Given the description of an element on the screen output the (x, y) to click on. 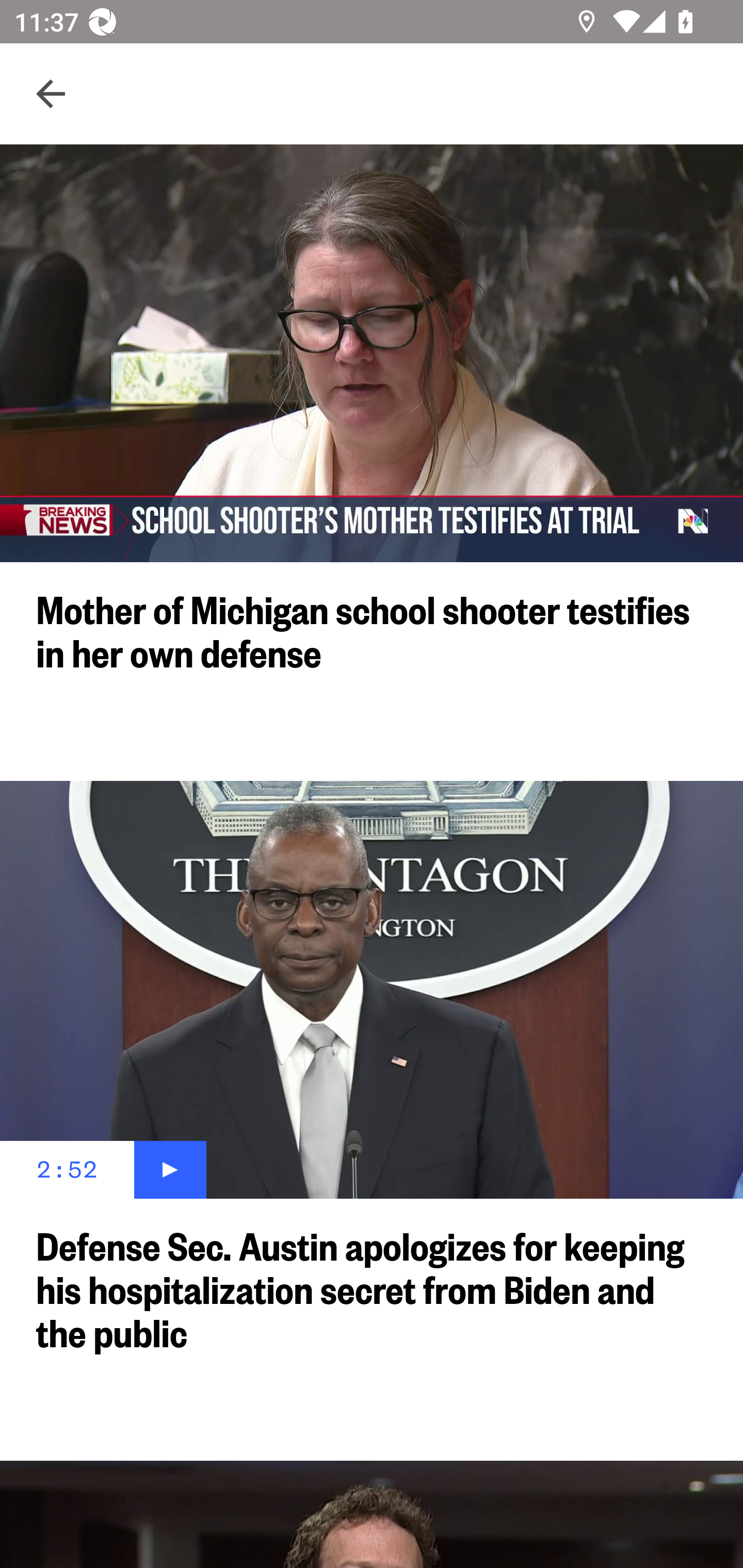
Navigate up (50, 93)
